Given the description of an element on the screen output the (x, y) to click on. 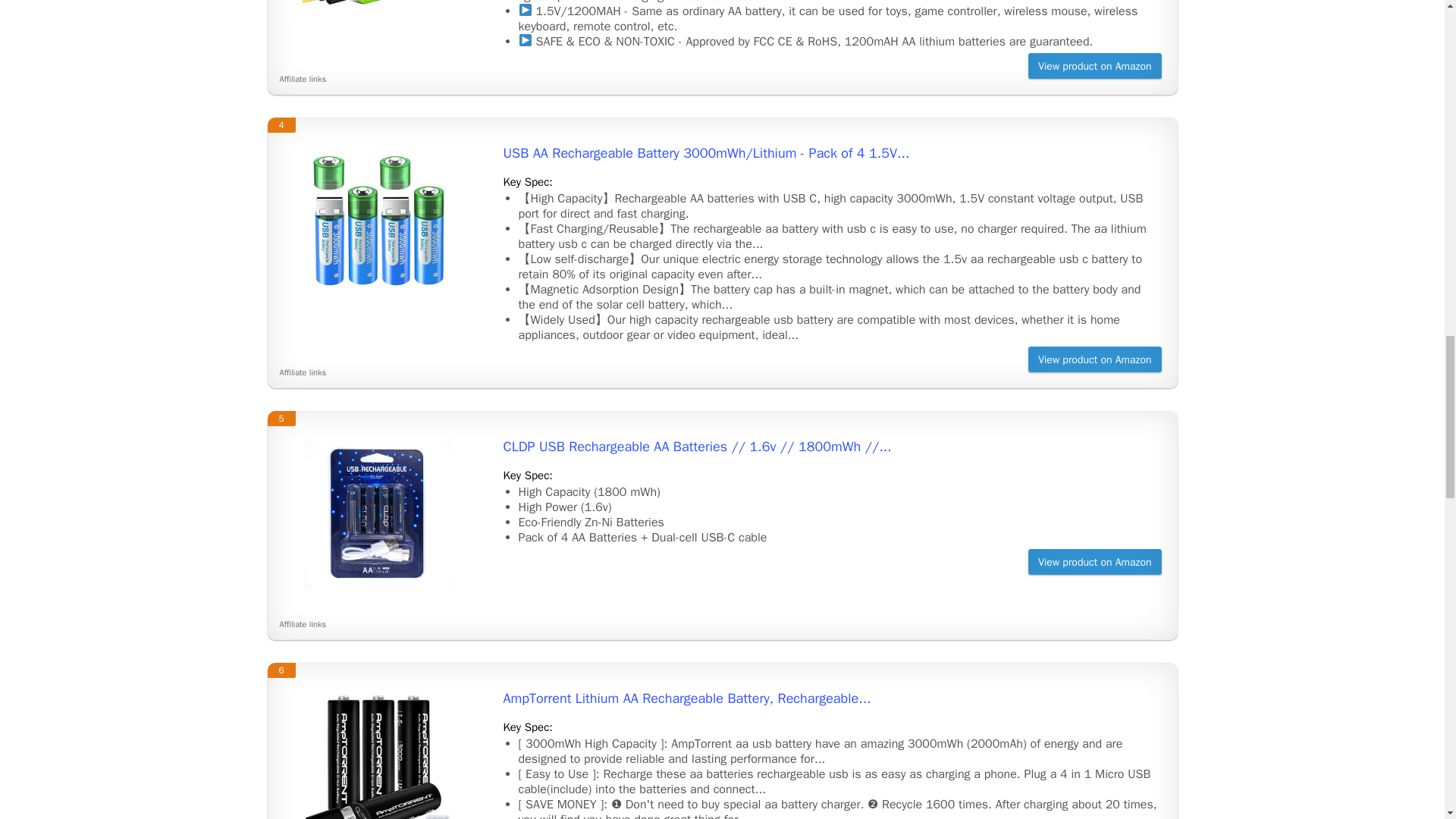
View product on Amazon (1093, 65)
View product on Amazon (1093, 561)
View product on Amazon (1093, 359)
